Given the description of an element on the screen output the (x, y) to click on. 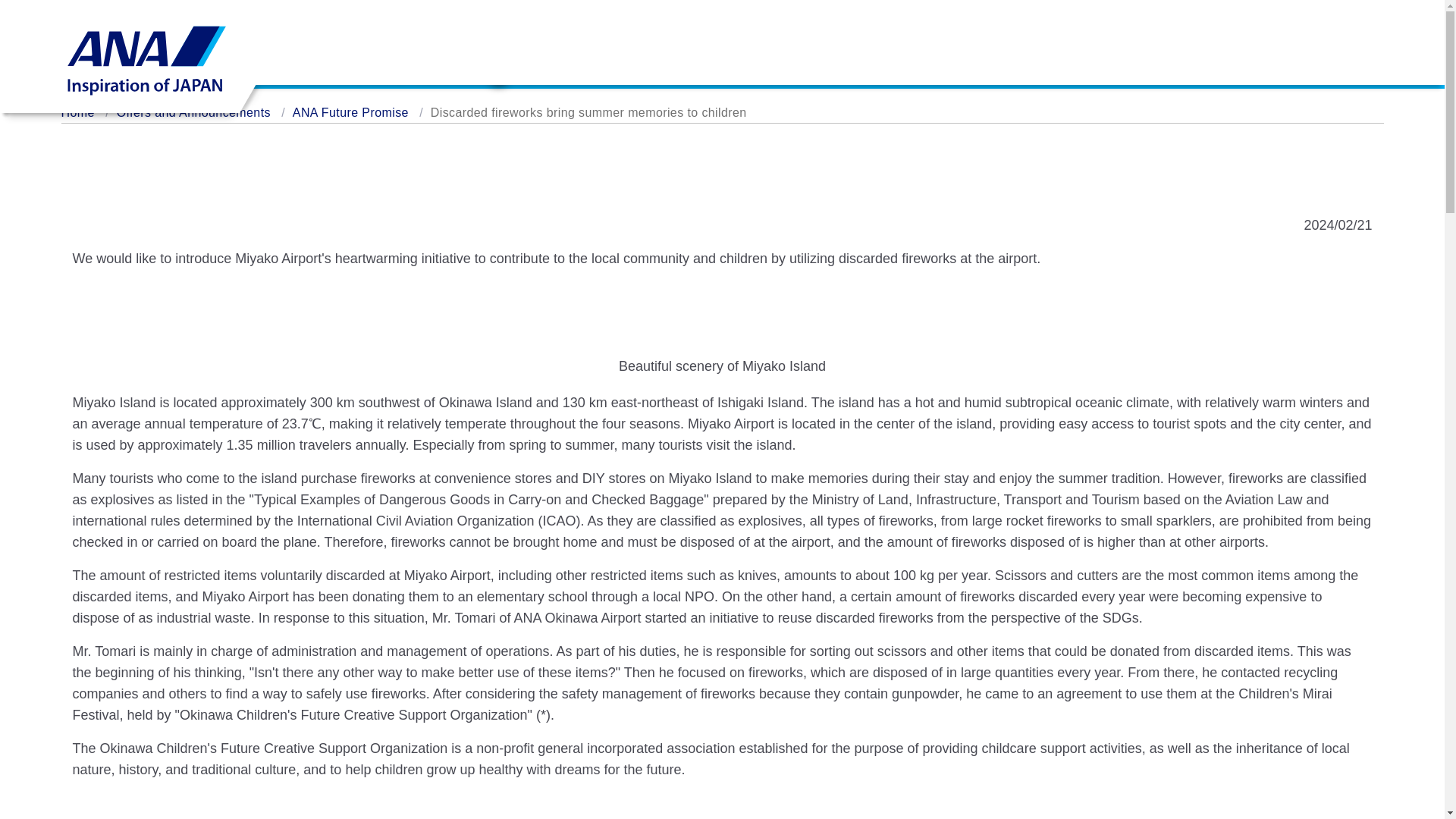
Home (77, 112)
Offers and Announcements (193, 112)
Discarded fireworks bring summer memories to children (588, 112)
ANA Future Promise (350, 112)
